Given the description of an element on the screen output the (x, y) to click on. 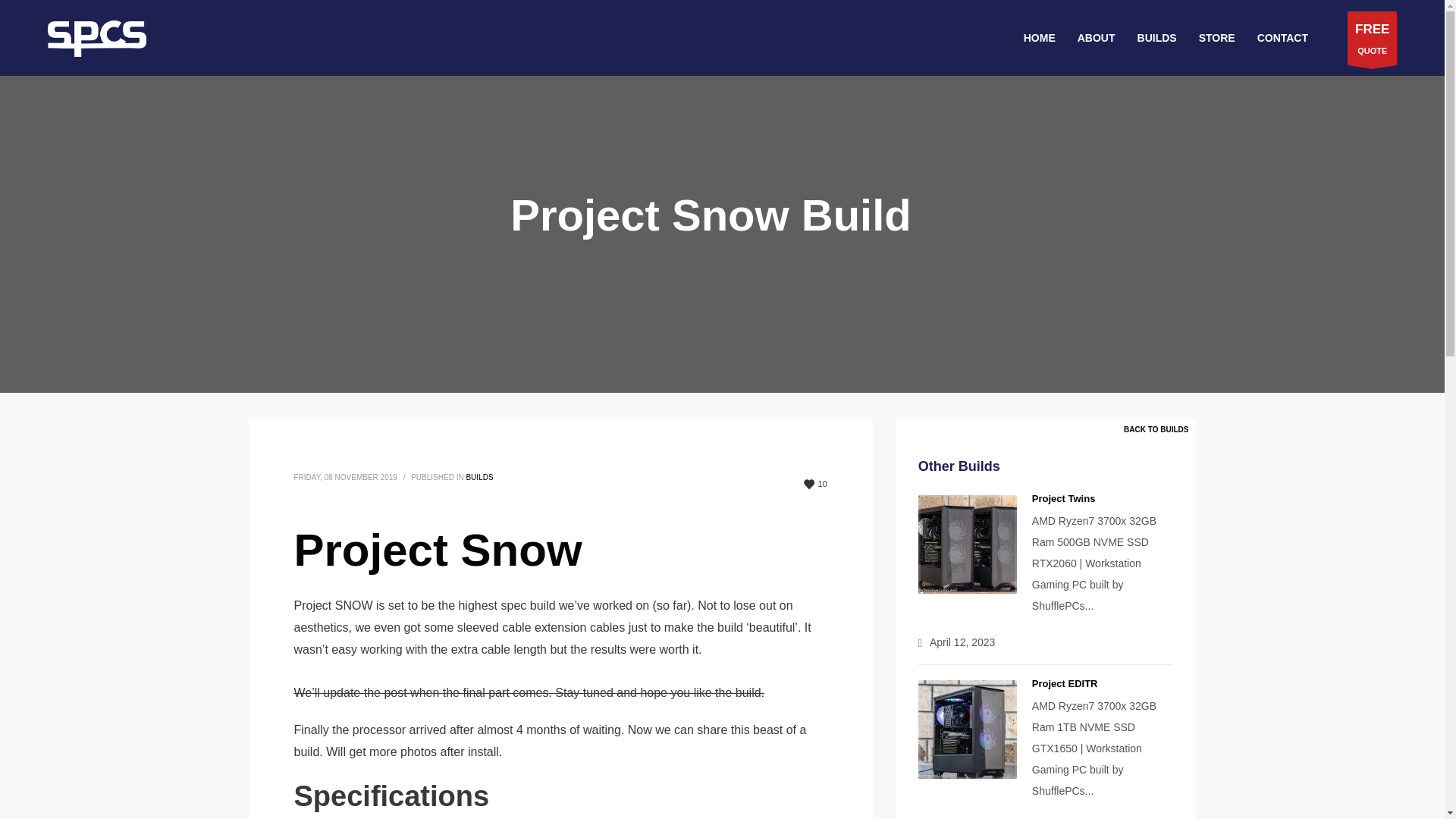
BUILDS (1157, 37)
Project Twins (1064, 498)
HOME (1039, 37)
ABOUT (1096, 37)
10 (1372, 37)
STORE (815, 483)
CONTACT (1216, 37)
Project EDITR (1282, 37)
BACK TO BUILDS (1064, 683)
BUILDS (1159, 429)
The Craftsman workshop (479, 477)
